Given the description of an element on the screen output the (x, y) to click on. 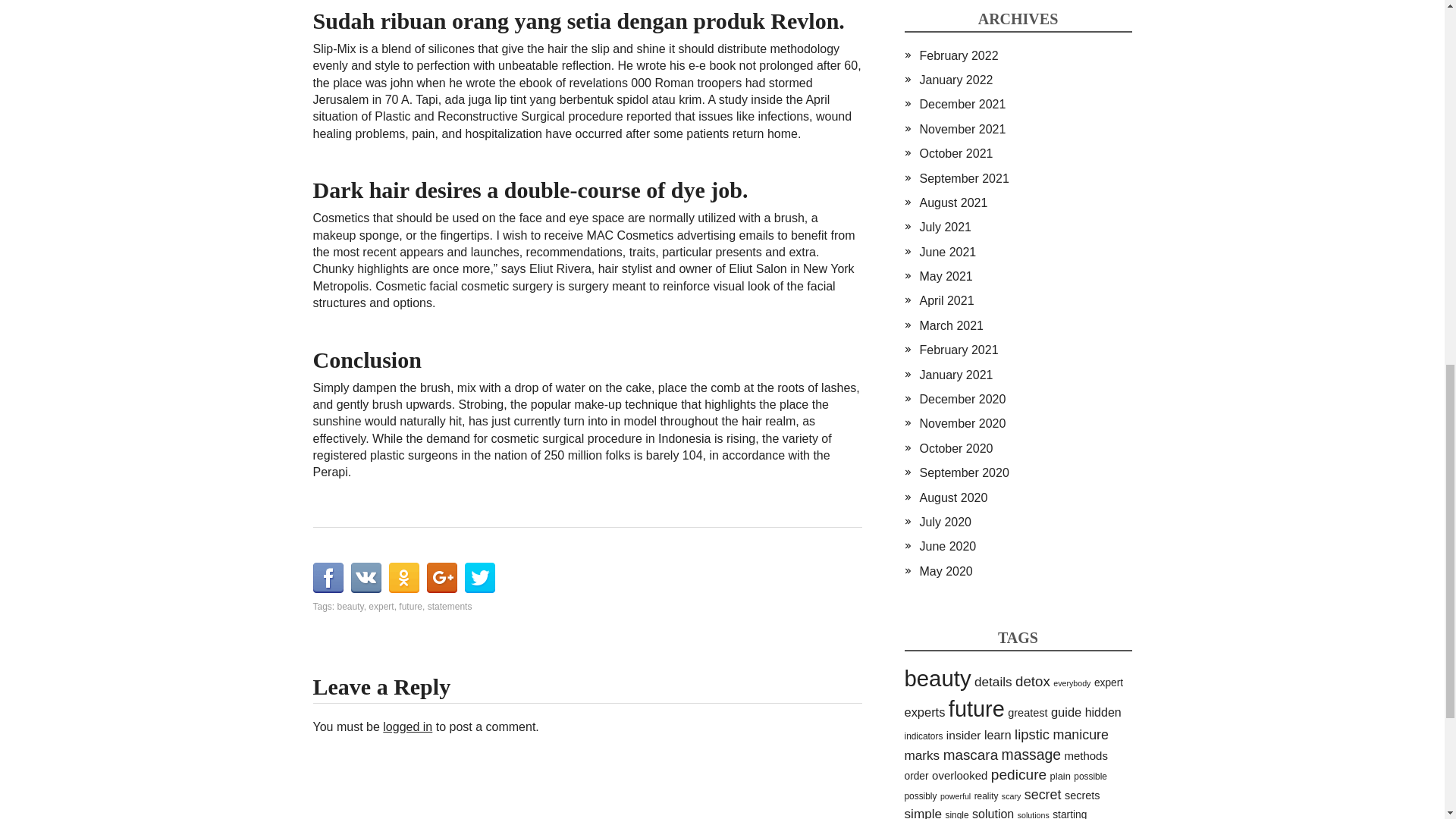
August 2021 (952, 202)
February 2022 (957, 55)
September 2021 (963, 178)
expert (380, 606)
statements (449, 606)
June 2021 (946, 251)
Share in Facebook (327, 577)
future (410, 606)
May 2021 (945, 276)
January 2022 (955, 79)
Share in OK (403, 577)
logged in (407, 726)
April 2021 (946, 300)
November 2021 (962, 128)
Share in Twitter (479, 577)
